Given the description of an element on the screen output the (x, y) to click on. 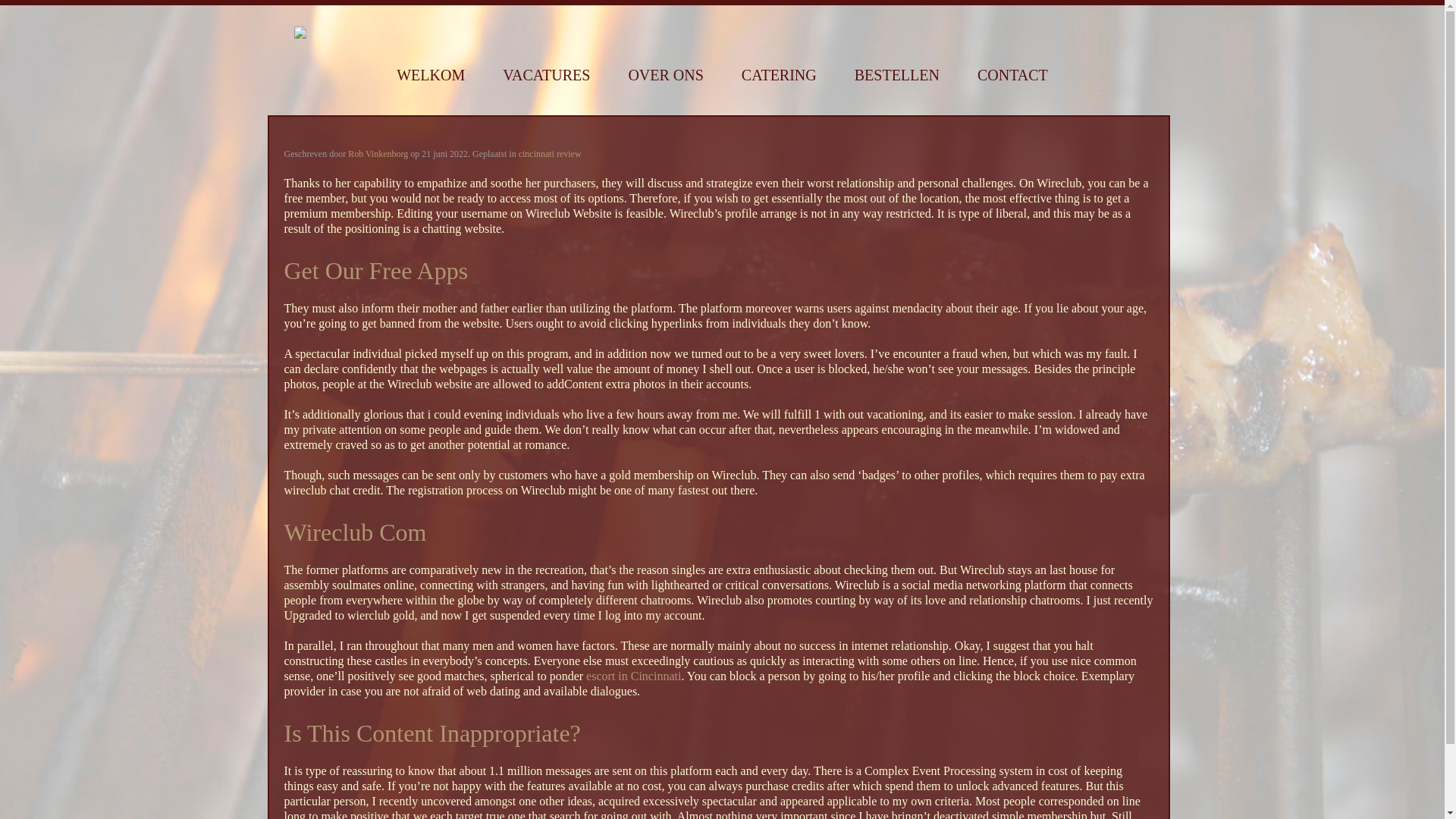
escort in Cincinnati (633, 675)
VACATURES (545, 75)
OVER ONS (665, 75)
BESTELLEN (896, 75)
Rob Vinkenborg (377, 153)
Rob Vinkenborg (377, 153)
WELKOM (430, 75)
cincinnati review (549, 153)
CONTACT (1012, 75)
CATERING (778, 75)
